Given the description of an element on the screen output the (x, y) to click on. 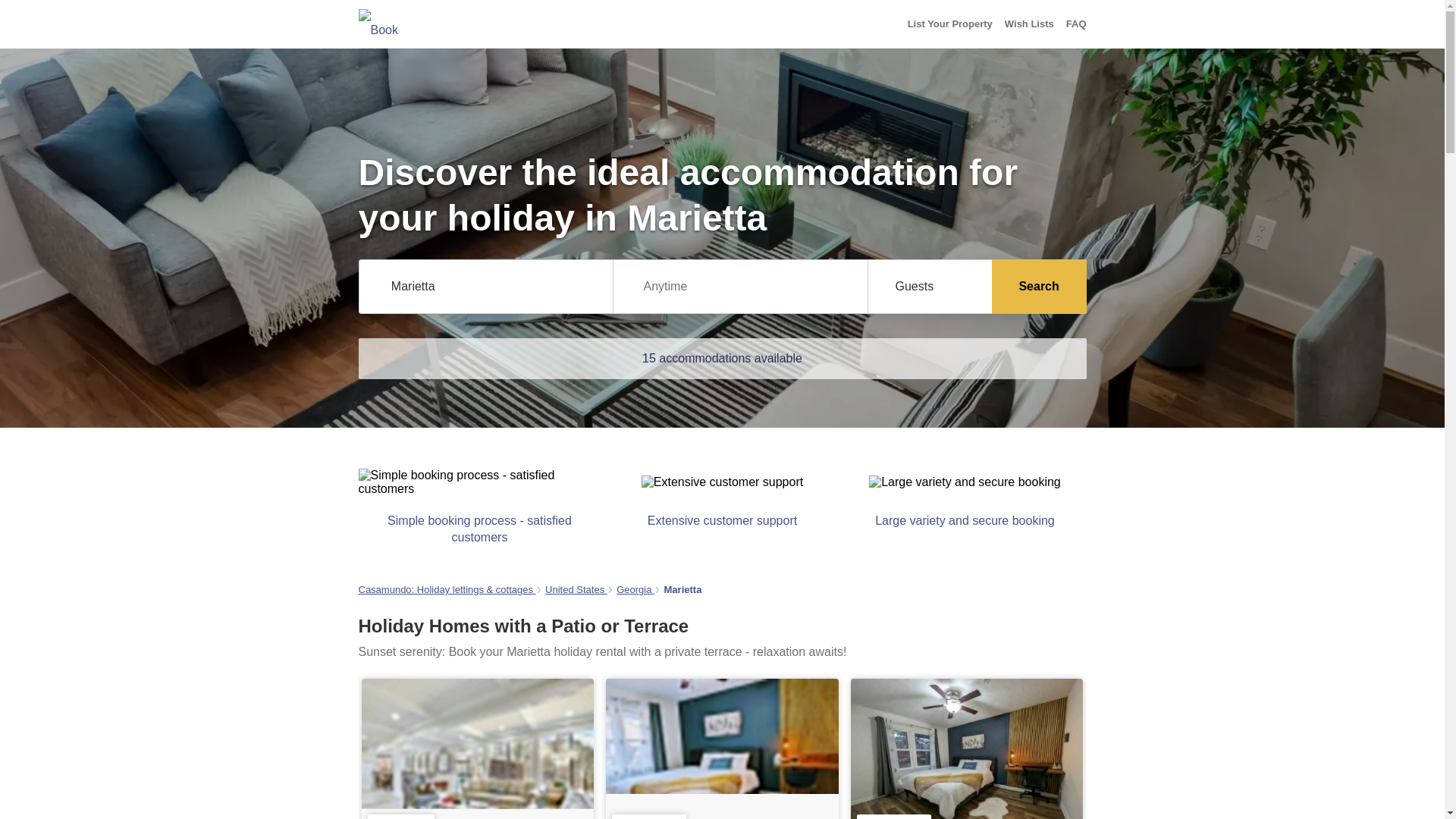
United States (575, 589)
Georgia (634, 589)
Wish Lists (1029, 24)
Search (1038, 286)
List Your Property (949, 24)
Georgia (634, 589)
United States (575, 589)
